Given the description of an element on the screen output the (x, y) to click on. 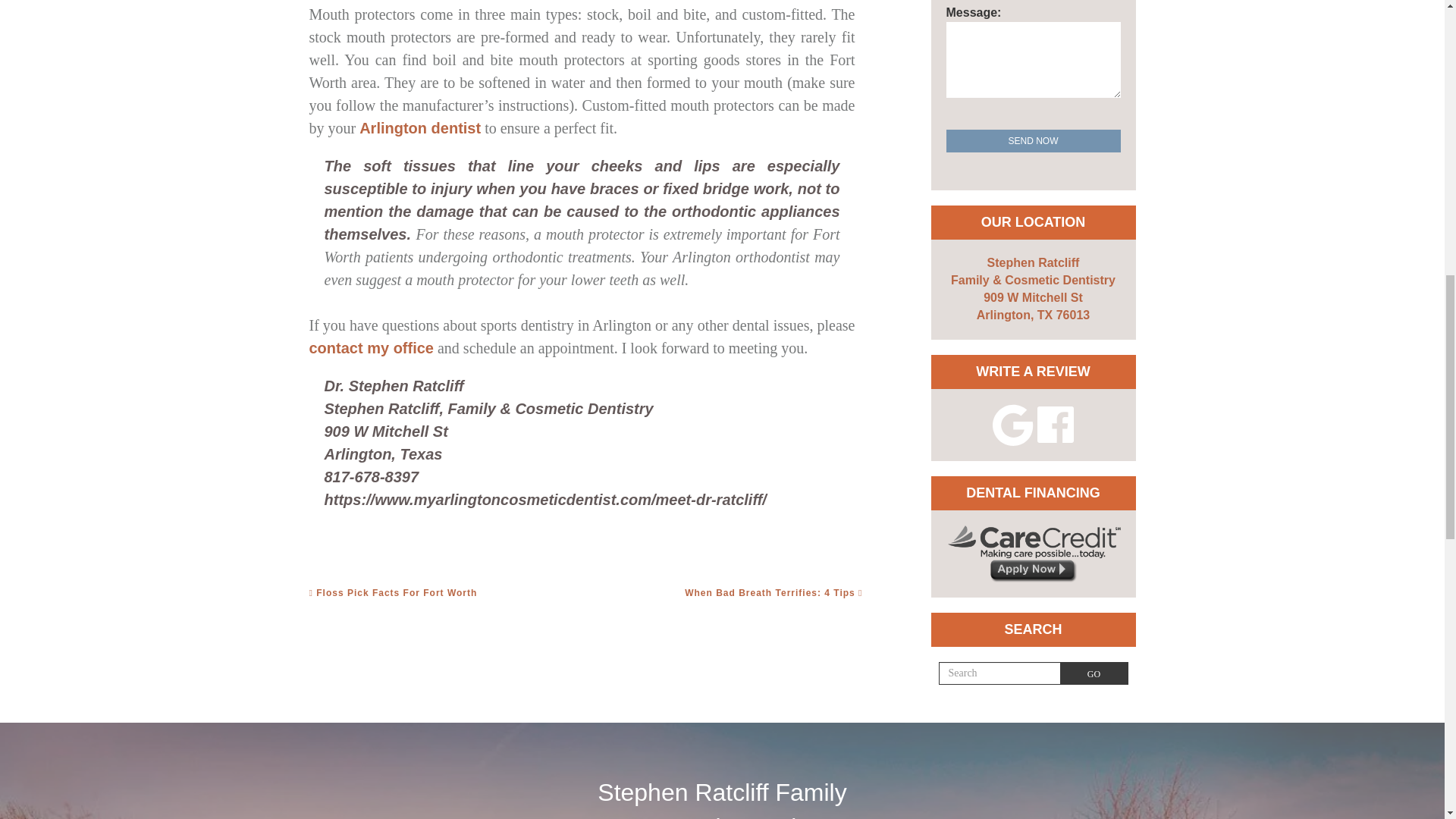
Search for: (1000, 672)
Send Now (1033, 140)
